Given the description of an element on the screen output the (x, y) to click on. 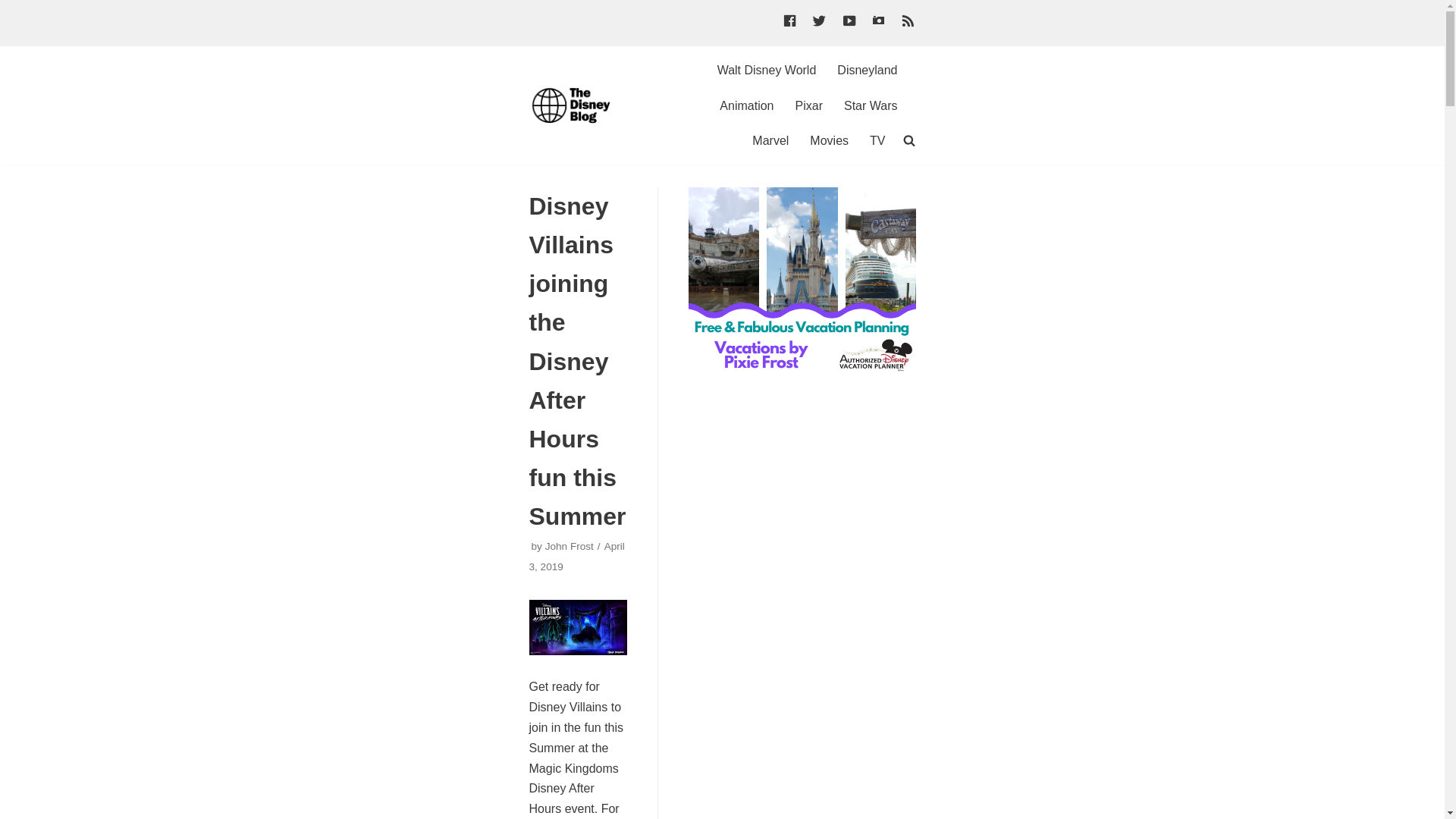
John Frost (569, 546)
Skip to content (15, 7)
The Disney Blog (574, 104)
Marvel (770, 140)
Pixar (808, 105)
Posts by John Frost (569, 546)
Movies (828, 140)
Animation (746, 105)
Walt Disney World (766, 69)
Star Wars (871, 105)
